Given the description of an element on the screen output the (x, y) to click on. 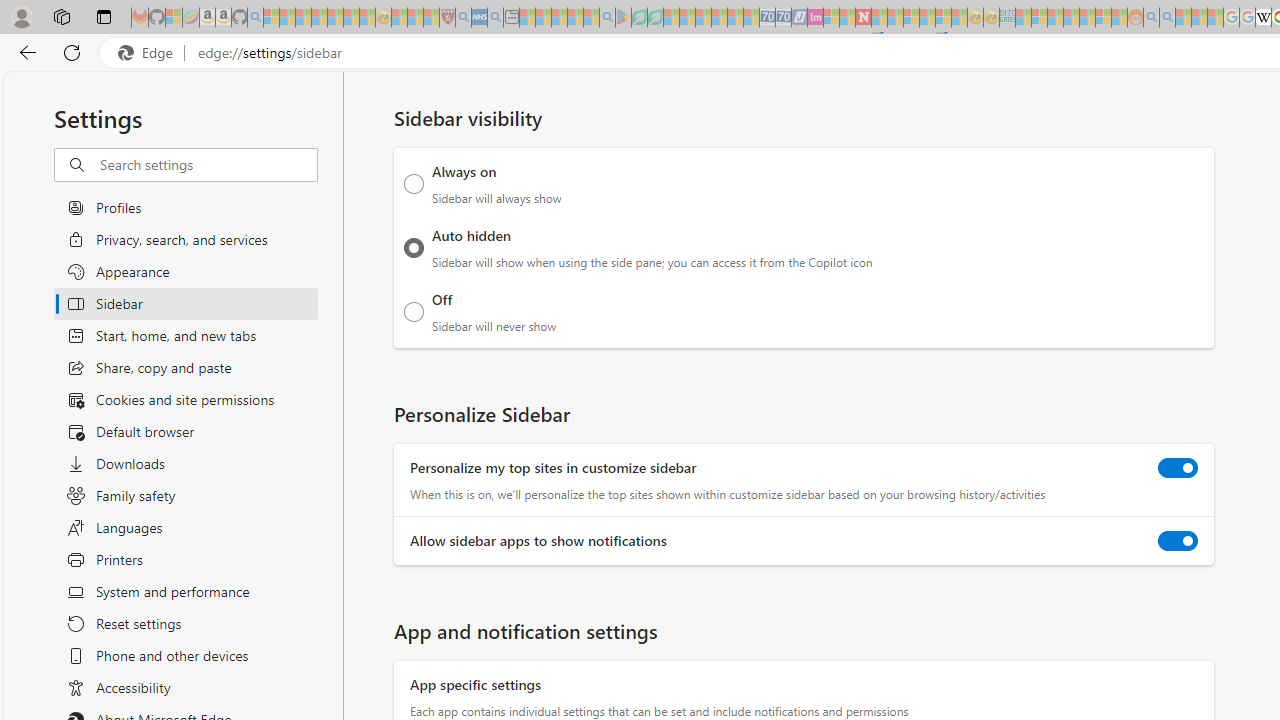
Expert Portfolios - Sleeping (1071, 17)
Search settings (207, 165)
